Given the description of an element on the screen output the (x, y) to click on. 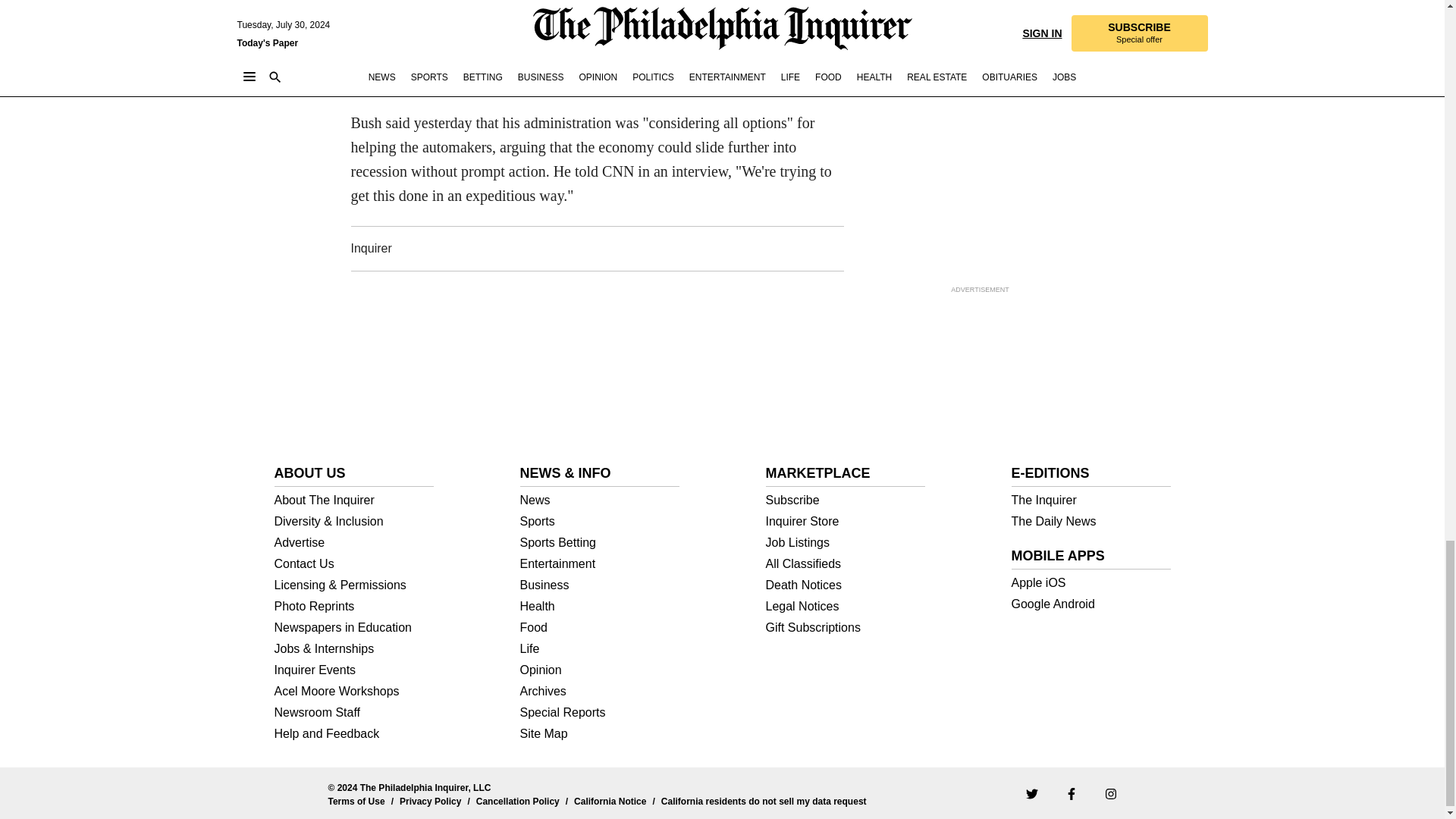
About The Inquirer (354, 500)
Instagram (1109, 793)
Contact Us (354, 563)
Twitter (1030, 793)
Advertise (354, 542)
Facebook (1070, 793)
